Given the description of an element on the screen output the (x, y) to click on. 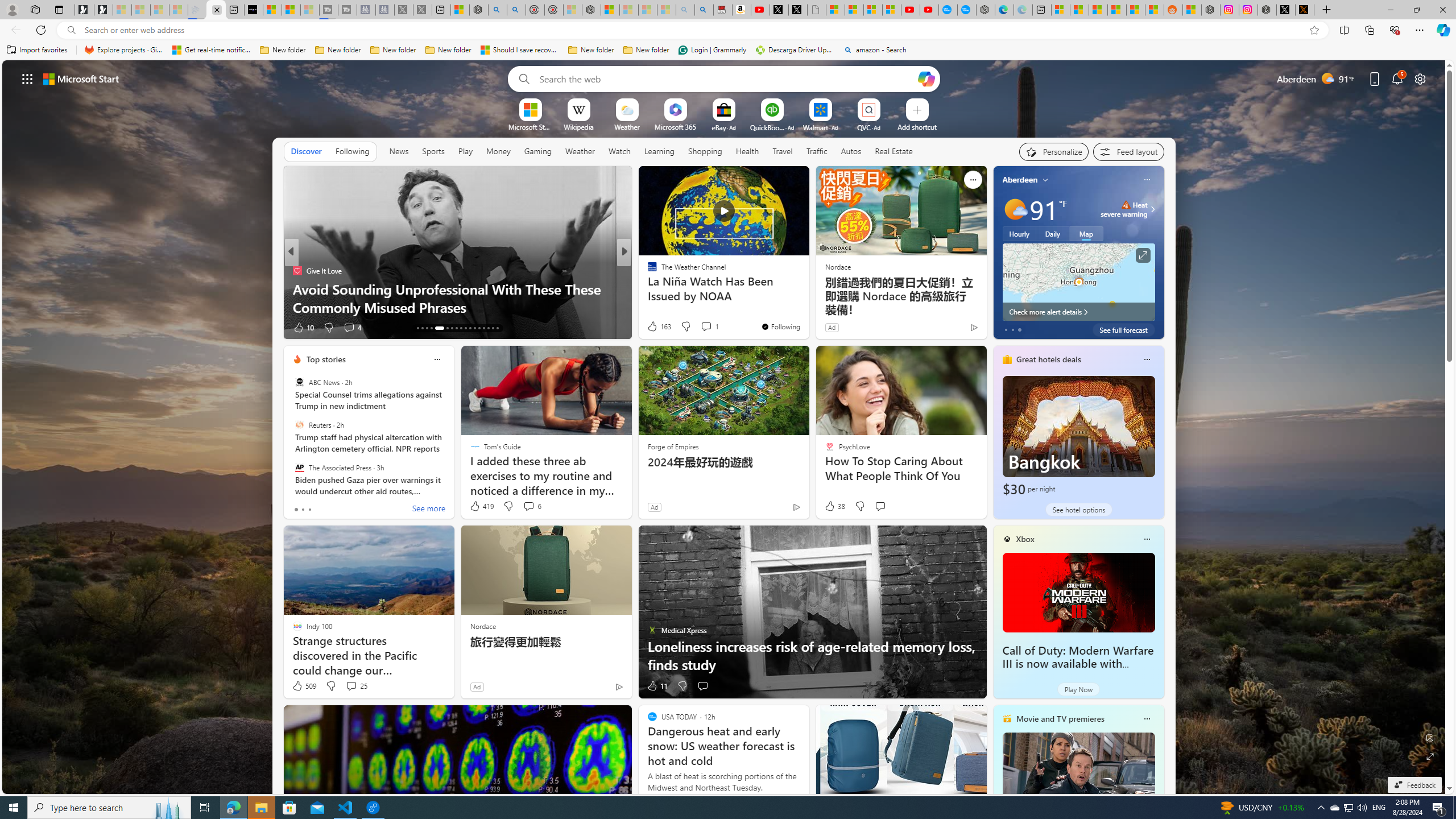
View comments 2 Comment (702, 327)
AutomationID: tab-19 (451, 328)
Health (746, 151)
Play Now (1078, 689)
Enter your search term (726, 78)
AutomationID: tab-24 (474, 328)
Class: icon-img (1146, 718)
My location (1045, 179)
